Given the description of an element on the screen output the (x, y) to click on. 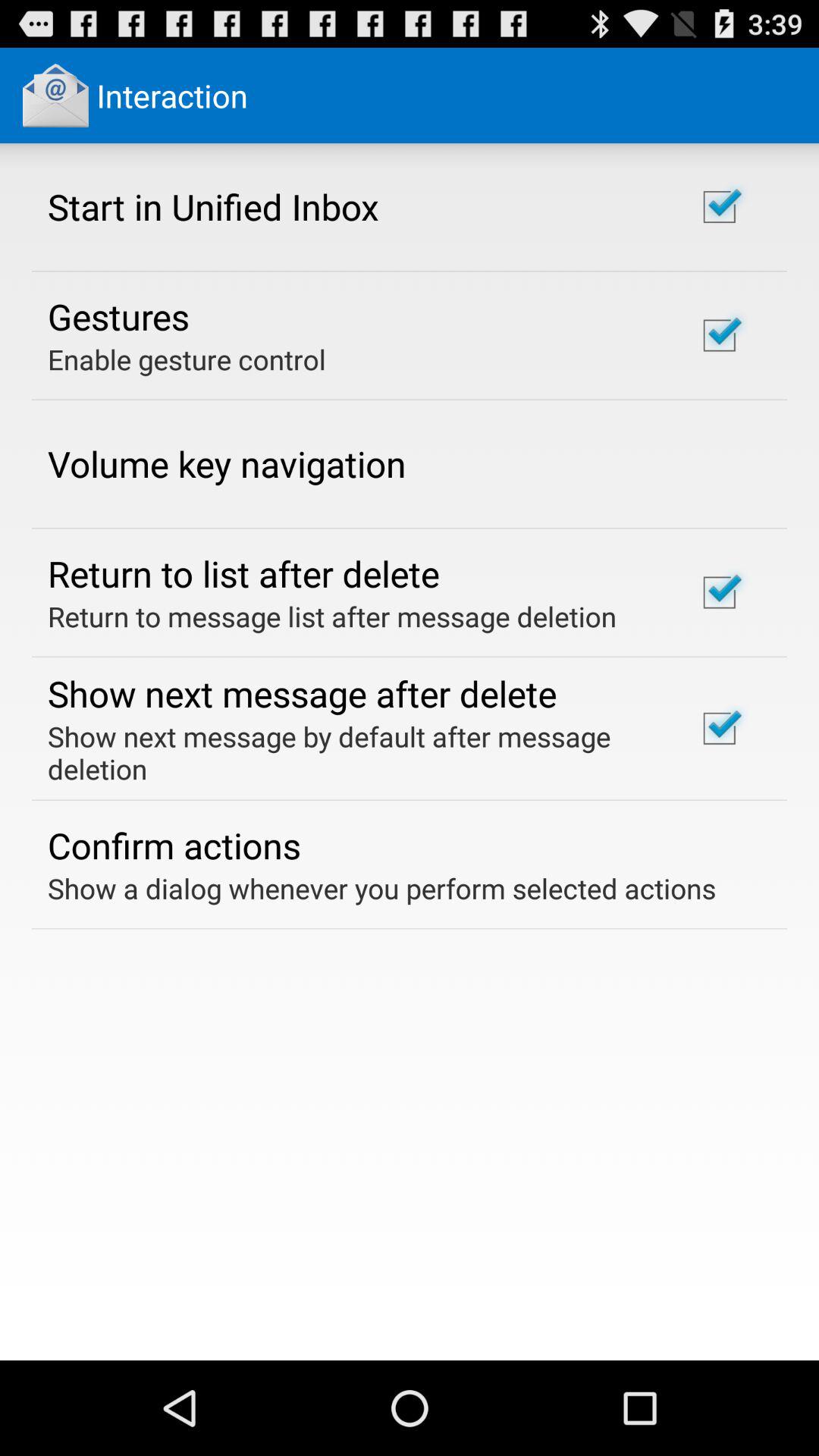
tap the item below the confirm actions icon (381, 888)
